Given the description of an element on the screen output the (x, y) to click on. 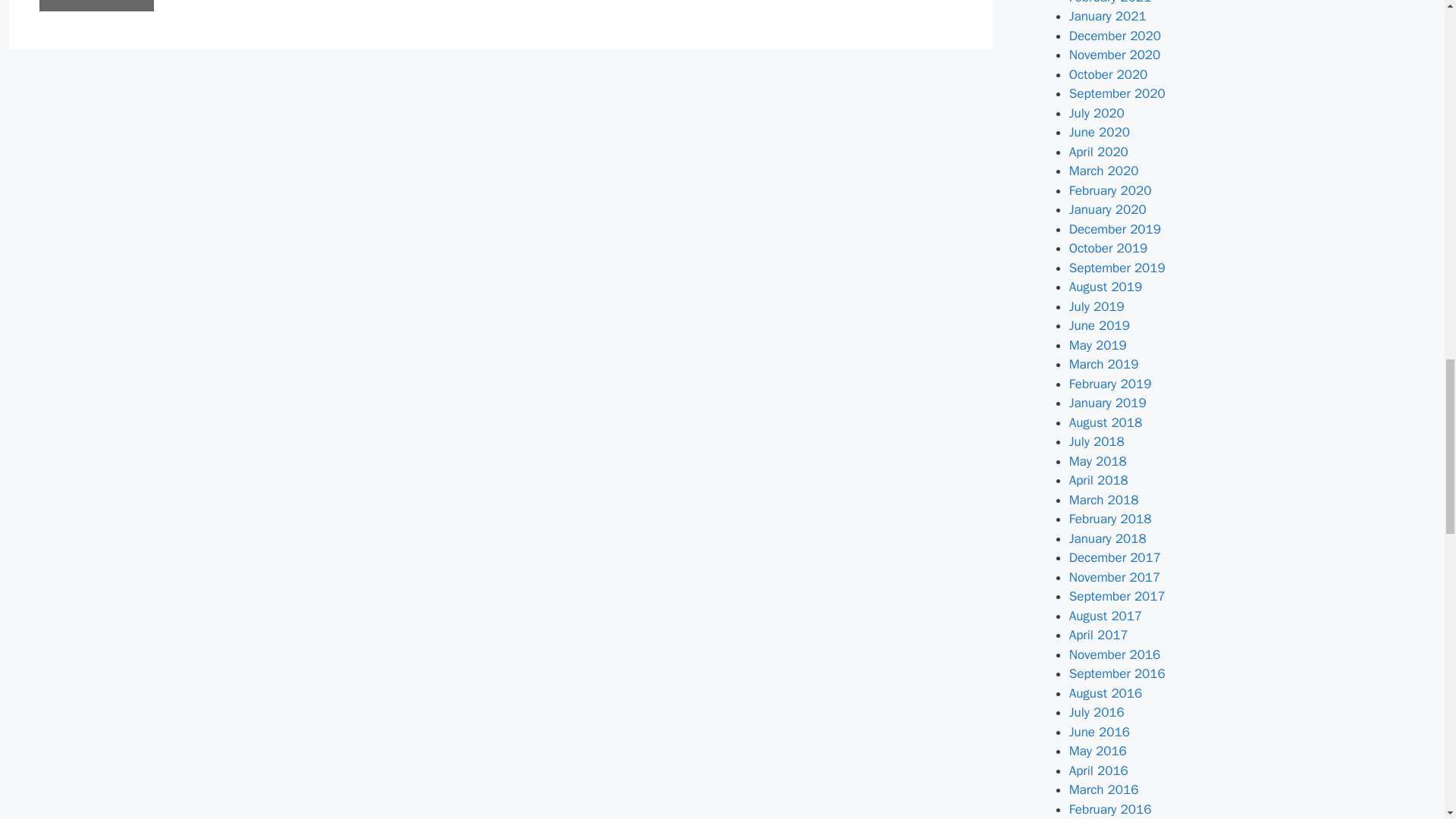
Post Comment (96, 6)
Post Comment (96, 6)
